Given the description of an element on the screen output the (x, y) to click on. 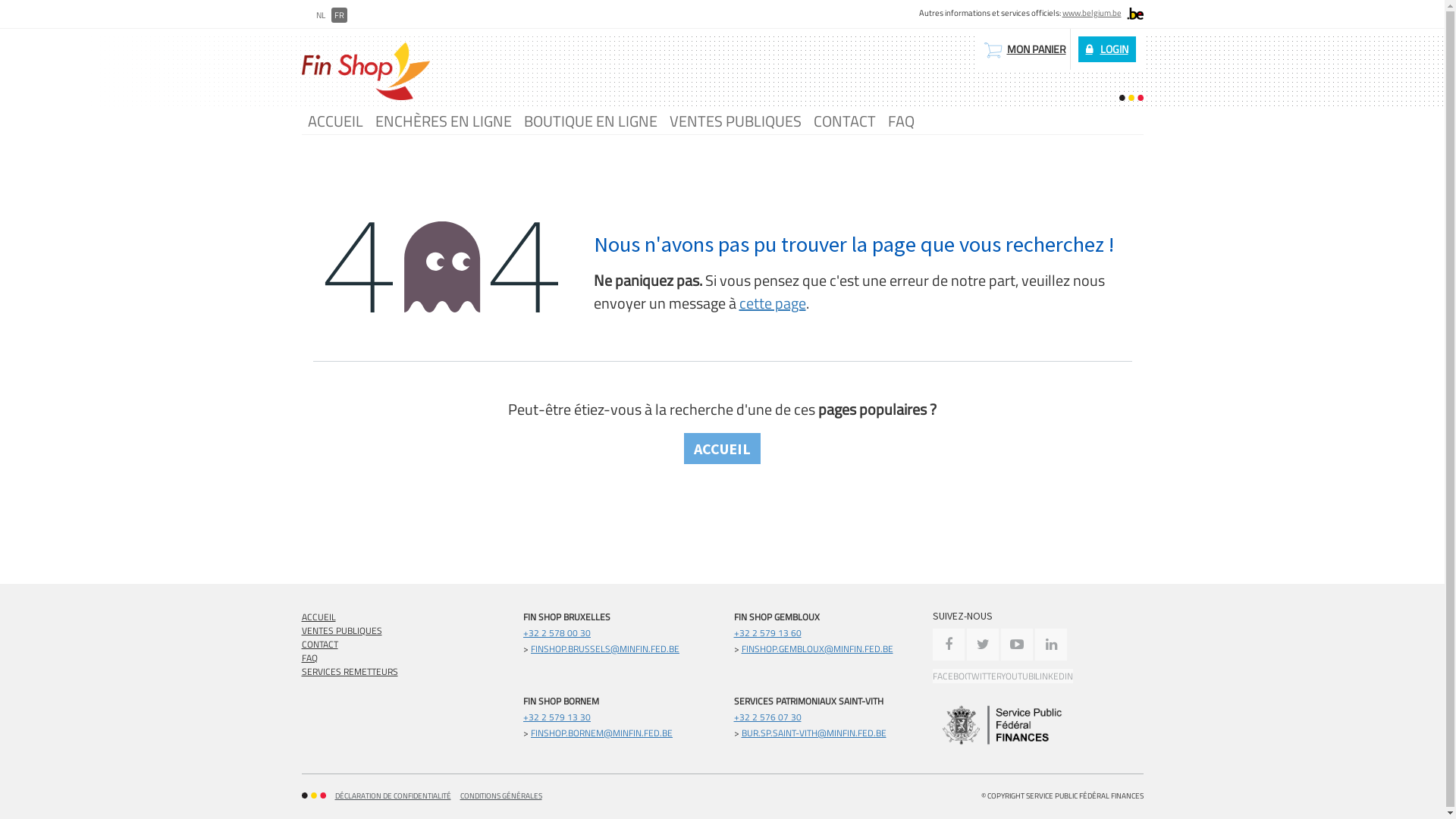
BOUTIQUE EN LIGNE Element type: text (589, 121)
MON PANIER Element type: text (1023, 49)
YOUTUBE Element type: text (1019, 655)
LOGIN Element type: text (1106, 49)
NL Element type: text (319, 14)
FINSHOP.BRUSSELS@MINFIN.FED.BE Element type: text (604, 648)
ACCUEIL Element type: text (318, 616)
+32 2 578 00 30 Element type: text (556, 632)
cette page Element type: text (771, 302)
CONTACT Element type: text (843, 121)
FAQ Element type: text (309, 657)
FINSHOP.GEMBLOUX@MINFIN.FED.BE Element type: text (817, 648)
FINSHOP.BORNEM@MINFIN.FED.BE Element type: text (601, 732)
CONTACT Element type: text (319, 644)
+32 2 579 13 30 Element type: text (556, 716)
SERVICES REMETTEURS Element type: text (349, 671)
VENTES PUBLIQUES Element type: text (341, 630)
FAQ Element type: text (900, 121)
FR Element type: text (338, 14)
ACCUEIL Element type: text (335, 121)
FACEBOOK Element type: text (953, 655)
ACCUEIL Element type: text (722, 448)
www.belgium.be Element type: text (1090, 12)
LINKEDIN Element type: text (1054, 655)
+32 2 579 13 60 Element type: text (767, 632)
TWITTER Element type: text (983, 655)
+32 2 576 07 30 Element type: text (767, 716)
VENTES PUBLIQUES Element type: text (734, 121)
BUR.SP.SAINT-VITH@MINFIN.FED.BE Element type: text (813, 732)
